Given the description of an element on the screen output the (x, y) to click on. 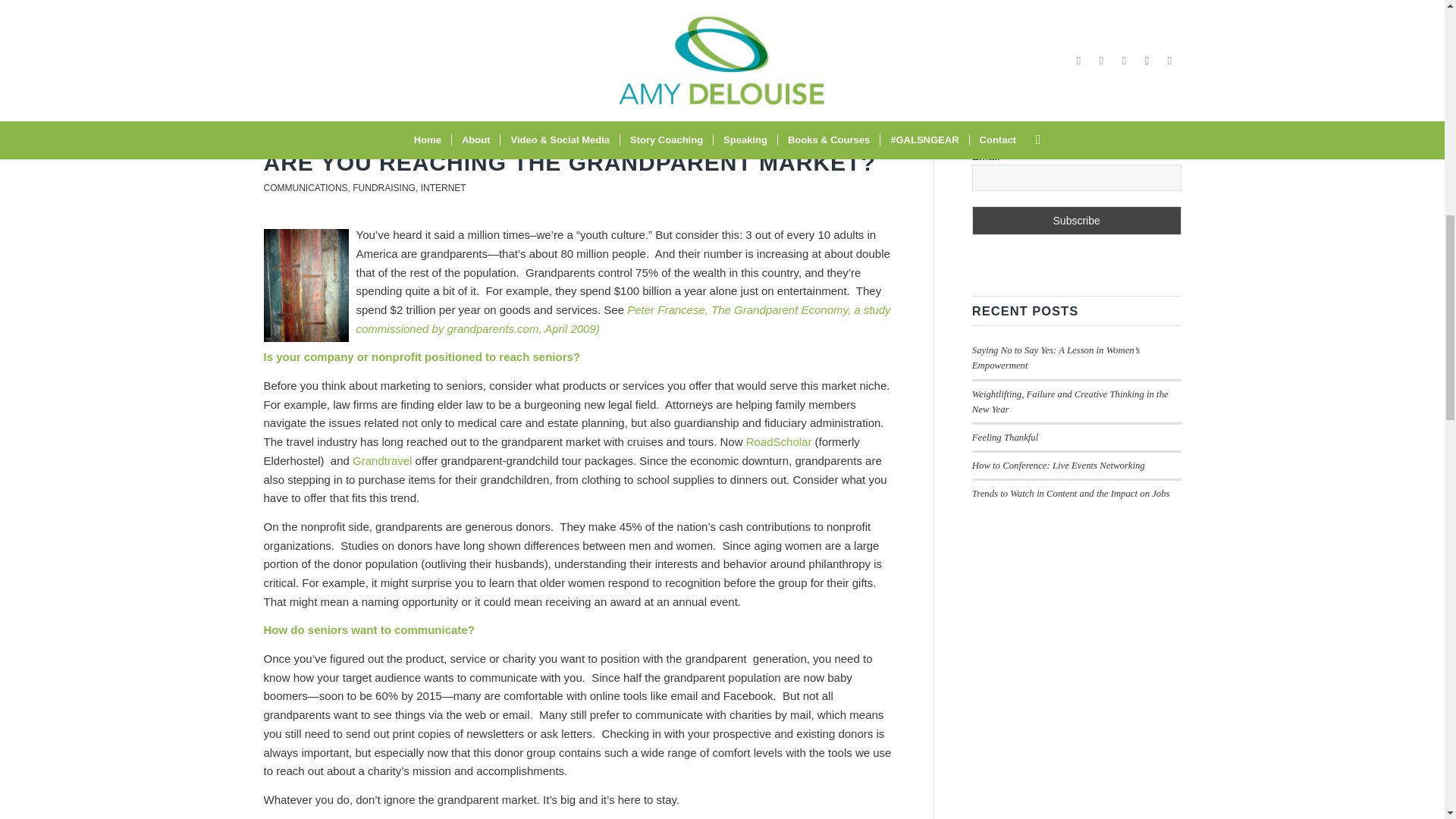
0 COMMENTS (399, 93)
Grandtravel (382, 460)
INTERNET (442, 186)
FUNDRAISING (383, 186)
Permanent Link: Are You Reaching the Grandparent Market? (569, 162)
Subscribe (1076, 220)
RoadScholar (778, 440)
ARE YOU REACHING THE GRANDPARENT MARKET? (569, 162)
The Grandparent Economy (623, 318)
COMMUNICATIONS (305, 186)
